Given the description of an element on the screen output the (x, y) to click on. 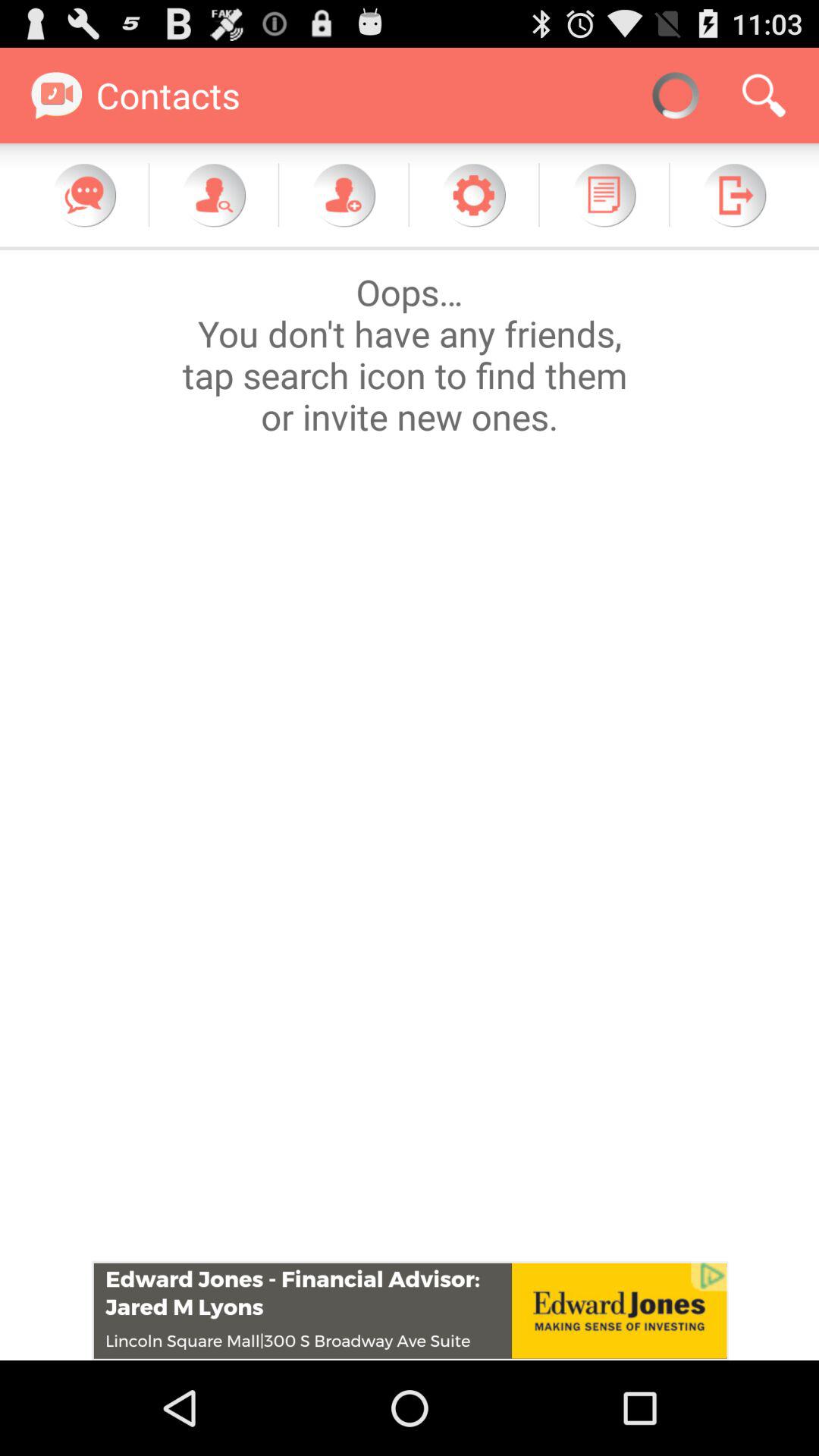
exit (734, 194)
